Given the description of an element on the screen output the (x, y) to click on. 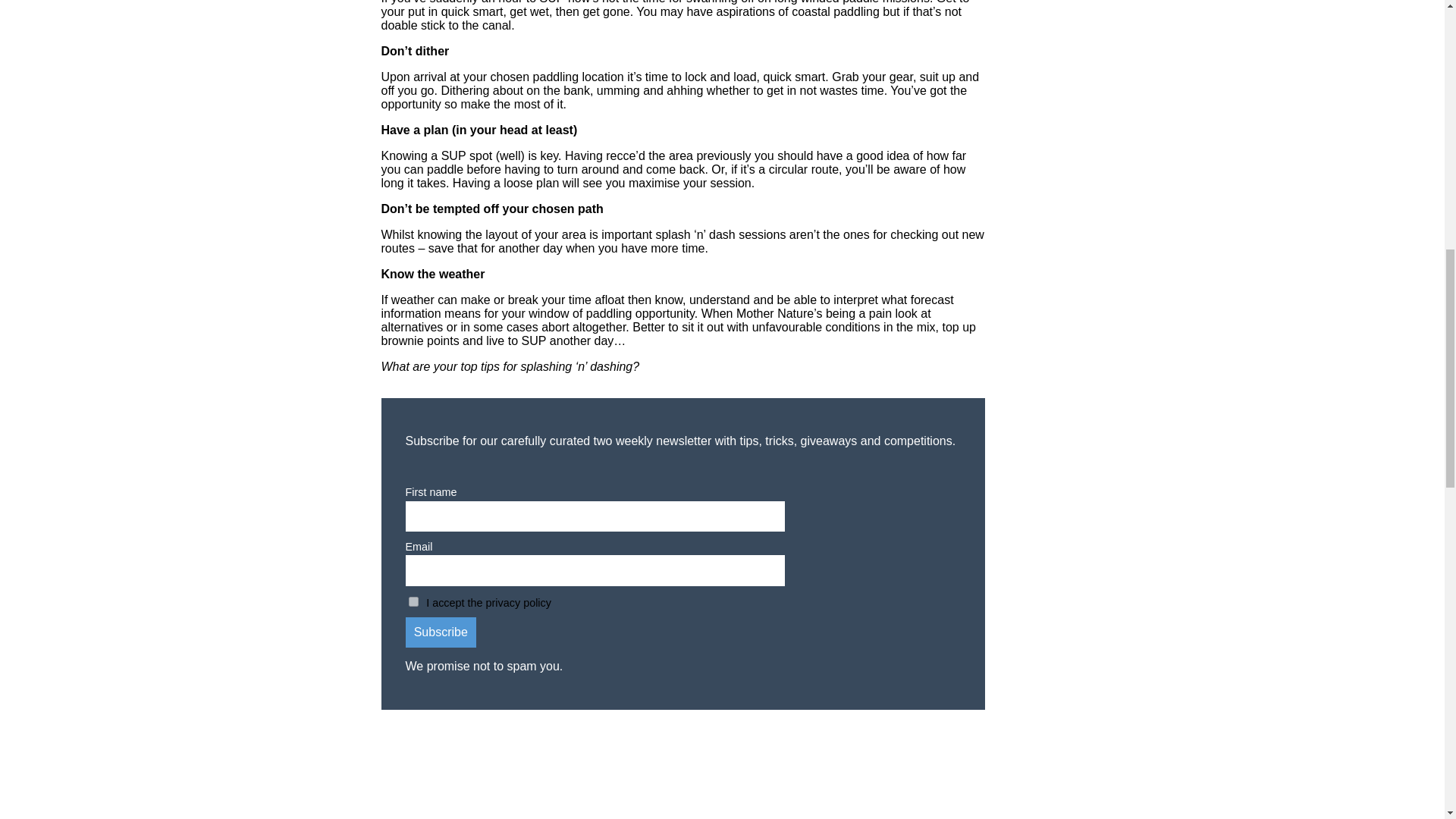
on (412, 601)
Subscribe (440, 632)
